Given the description of an element on the screen output the (x, y) to click on. 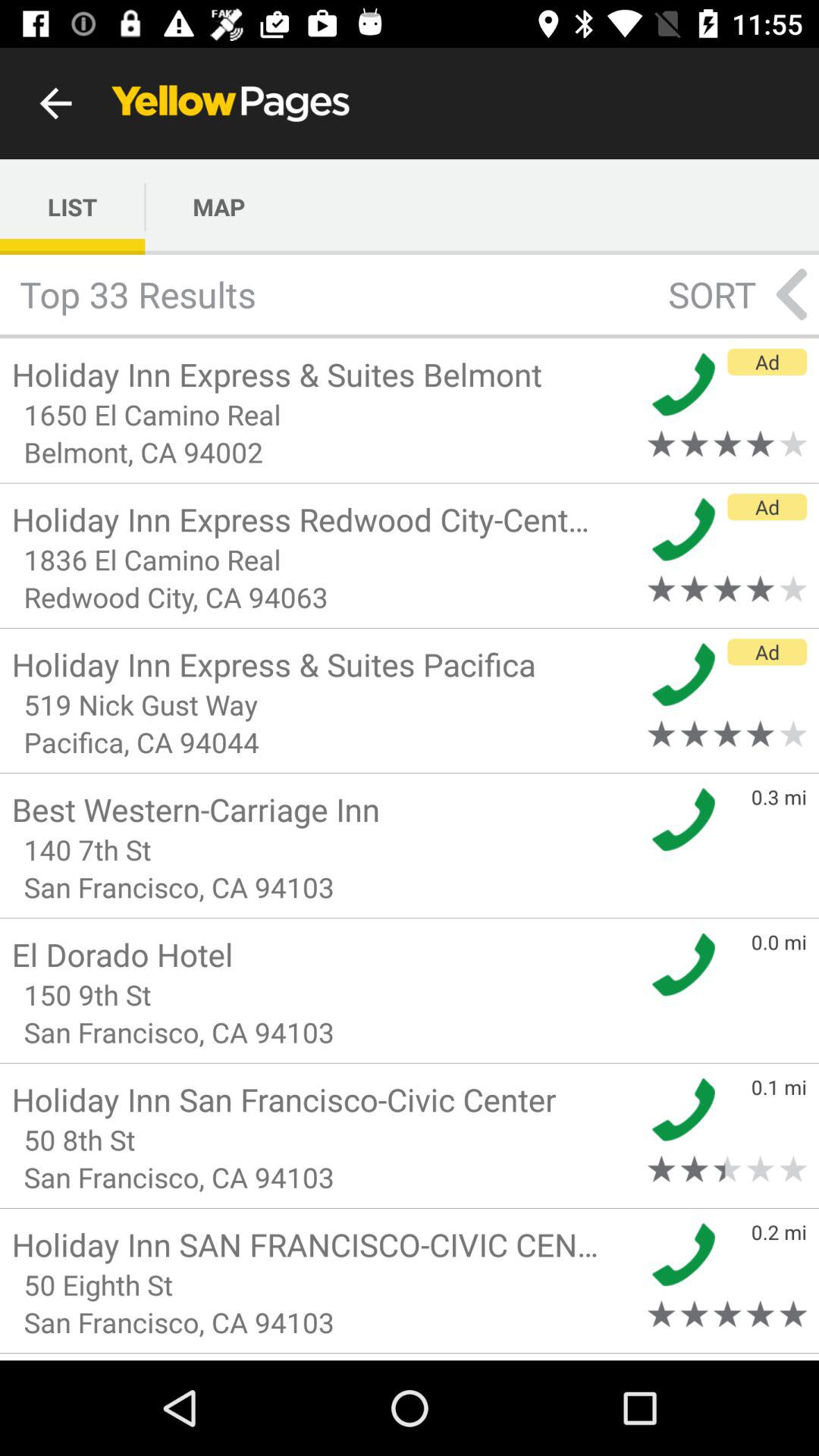
select 519 nick gust (324, 704)
